Given the description of an element on the screen output the (x, y) to click on. 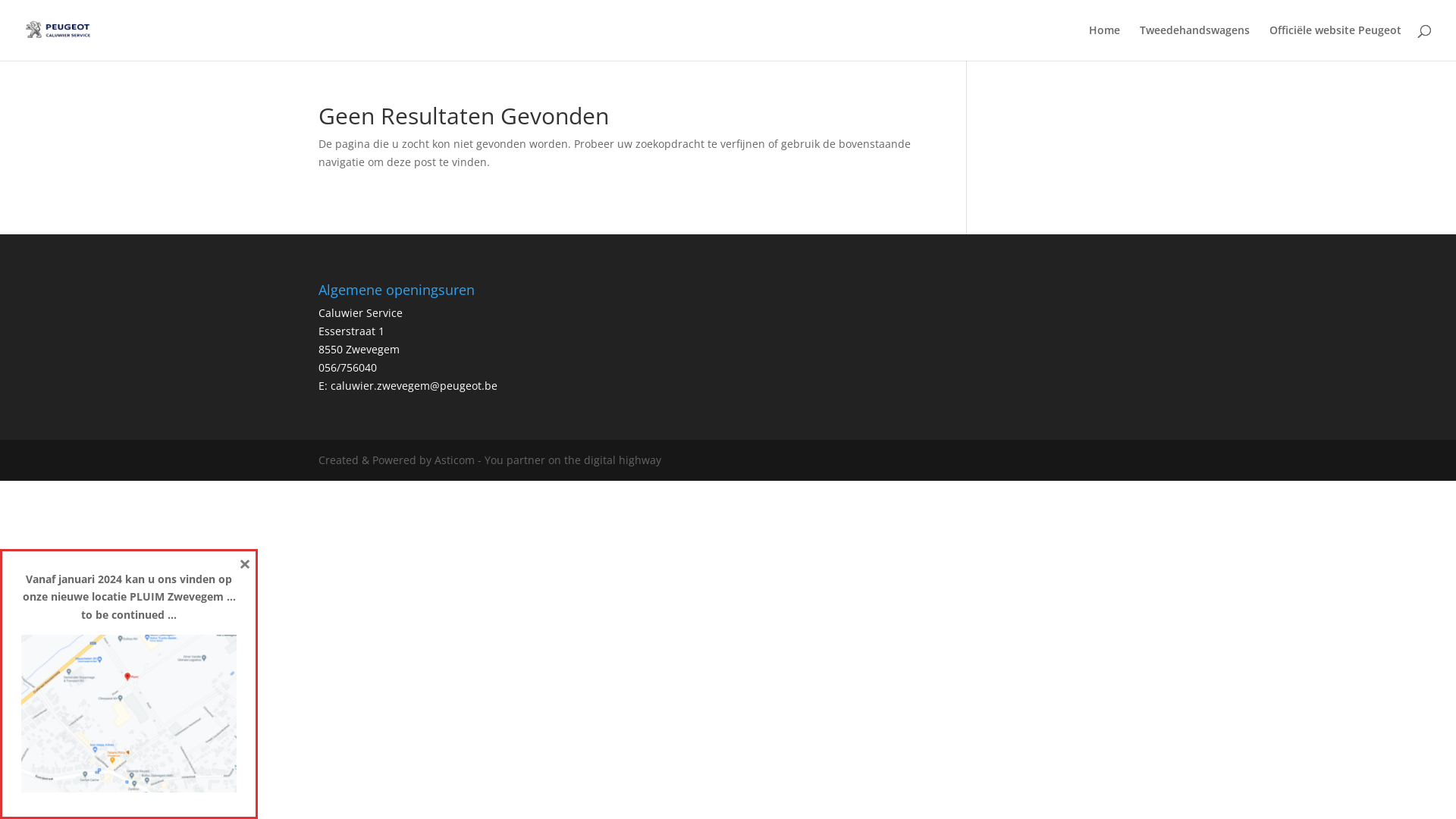
Tweedehandswagens Element type: text (1194, 42)
Home Element type: text (1104, 42)
